Given the description of an element on the screen output the (x, y) to click on. 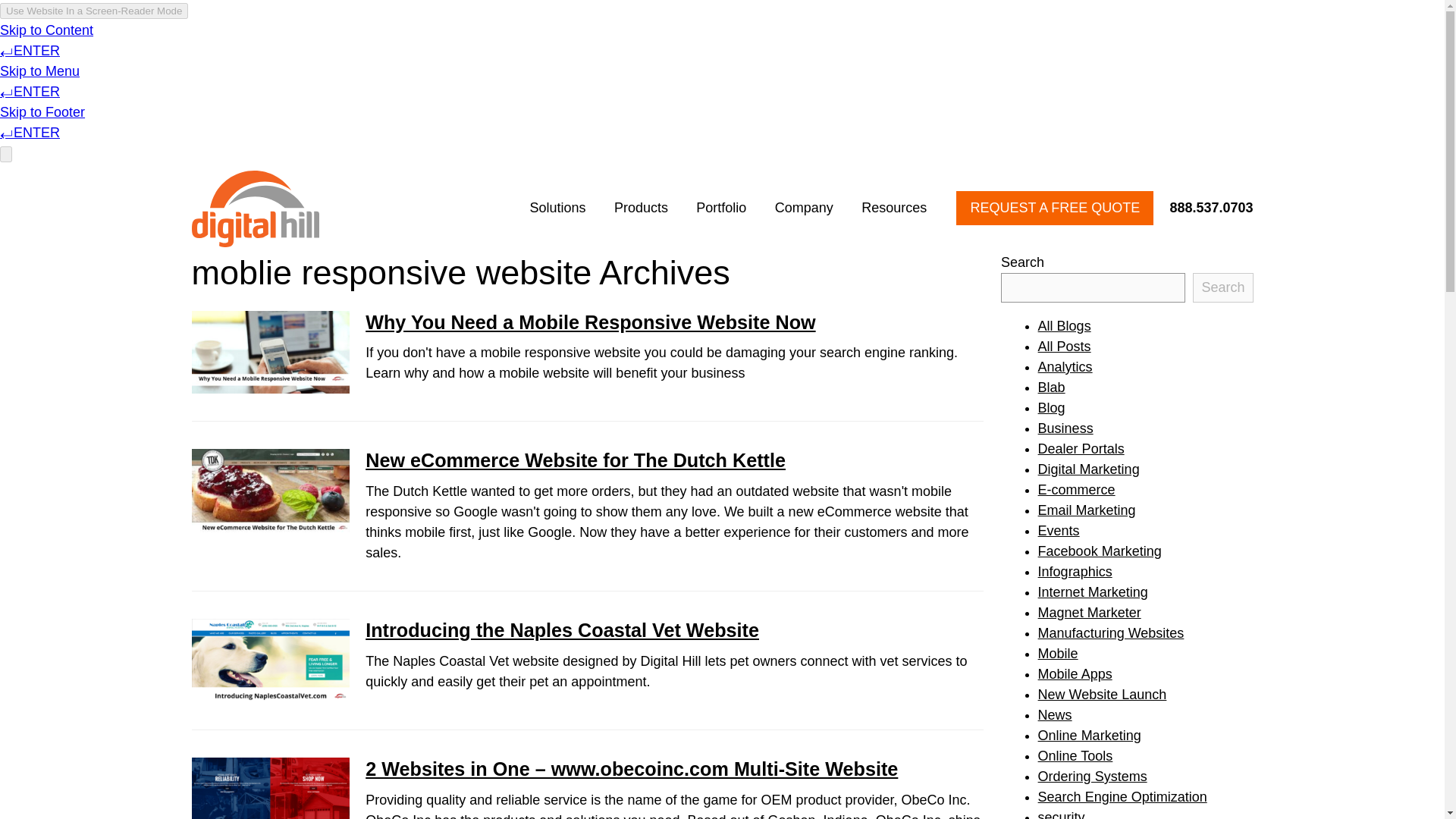
Blab (1051, 387)
Introducing the Naples Coastal Vet Website (561, 629)
All Blogs (1064, 325)
Analytics (1065, 366)
All Posts (1064, 346)
Digital Marketing (1089, 468)
Company (803, 207)
REQUEST A FREE QUOTE (1054, 207)
Search (1222, 287)
Blog (1051, 407)
Dealer Portals (1081, 448)
Solutions (556, 207)
Resources (893, 207)
Business (1065, 427)
888.537.0703 (1204, 207)
